Given the description of an element on the screen output the (x, y) to click on. 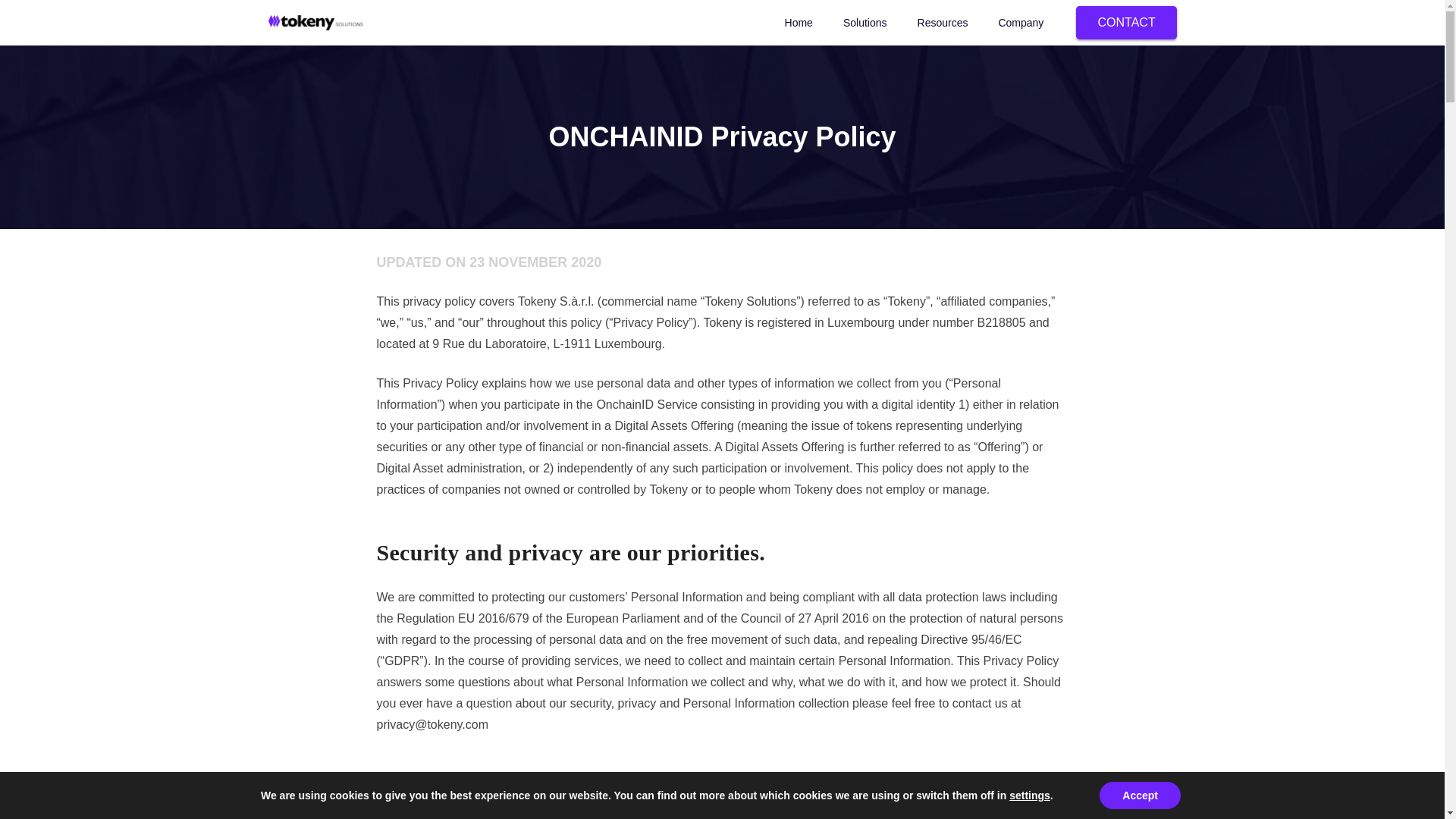
Solutions (865, 22)
CONTACT (1126, 22)
Resources (943, 22)
Company (1020, 22)
Home (799, 22)
